Given the description of an element on the screen output the (x, y) to click on. 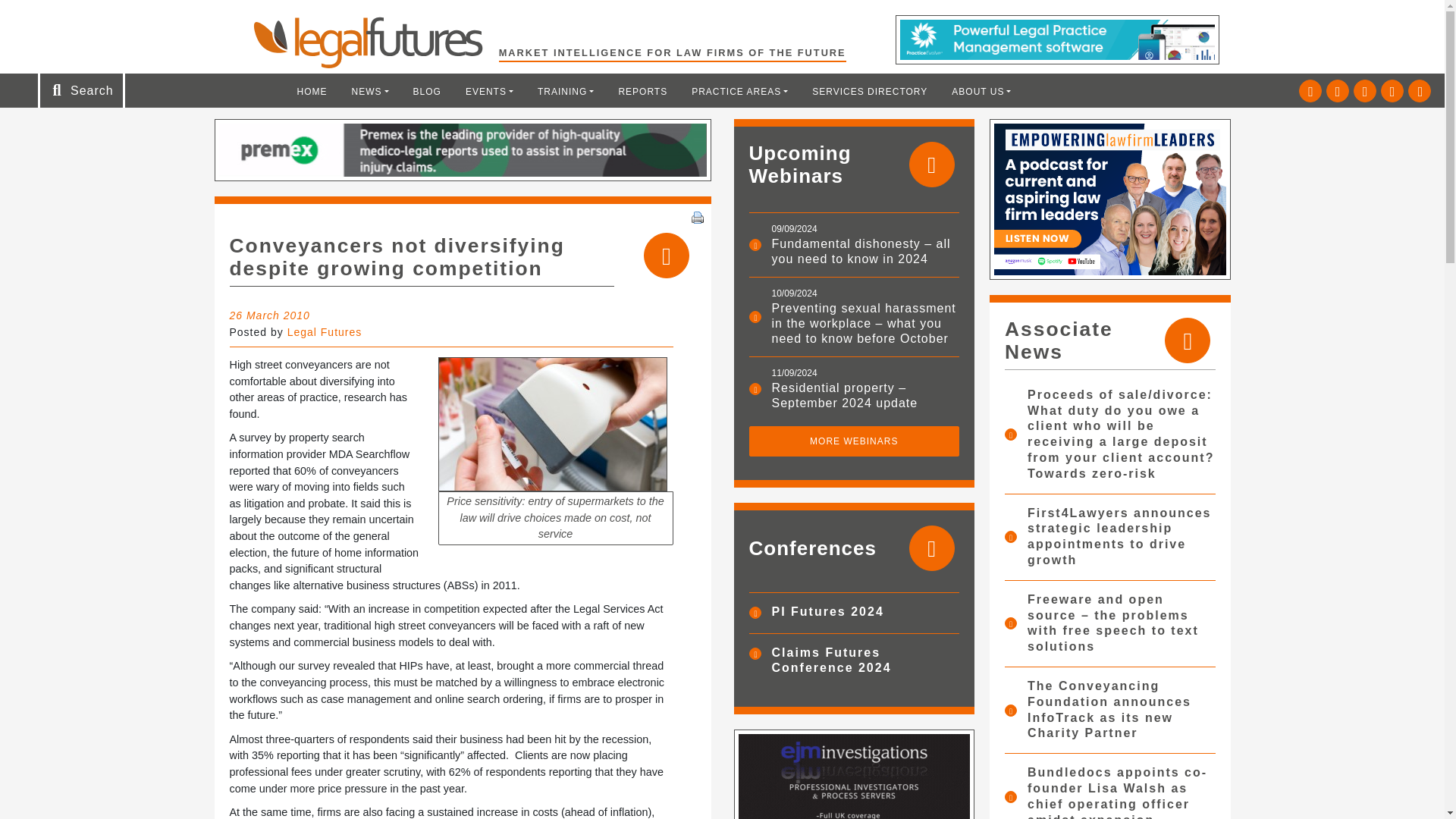
See Legal Futures on Facebook-f (1364, 90)
Search (51, 16)
SERVICES DIRECTORY (869, 91)
HOME (312, 91)
Events (488, 91)
See Legal Futures on Rss (1419, 90)
training (565, 91)
See Legal Futures on Youtube (1391, 90)
REPORTS (642, 91)
See Legal Futures on Linkedin-in (1337, 90)
